Given the description of an element on the screen output the (x, y) to click on. 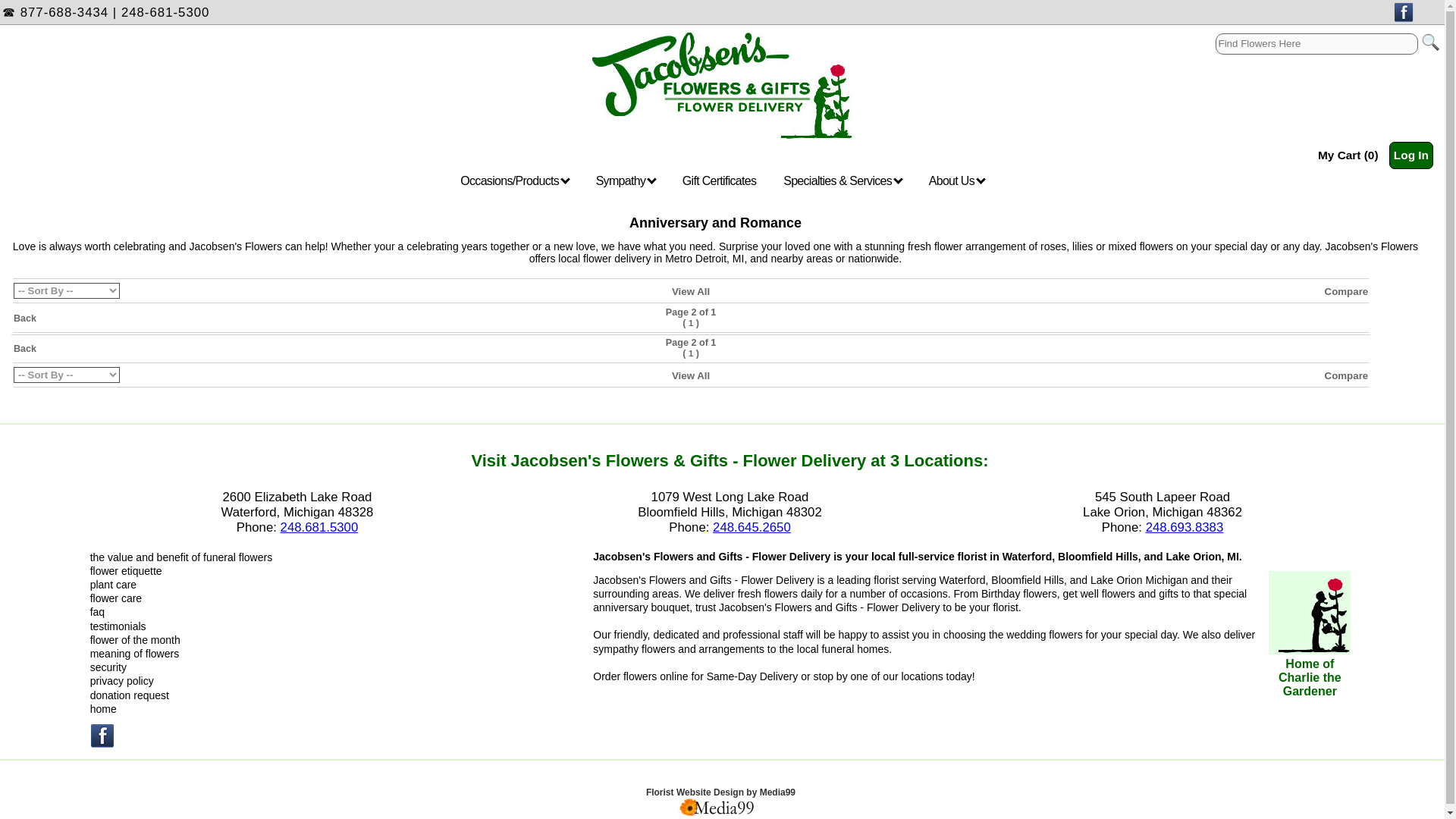
Log In (1410, 154)
248-681-5300 (164, 11)
877-688-3434 (64, 11)
